Given the description of an element on the screen output the (x, y) to click on. 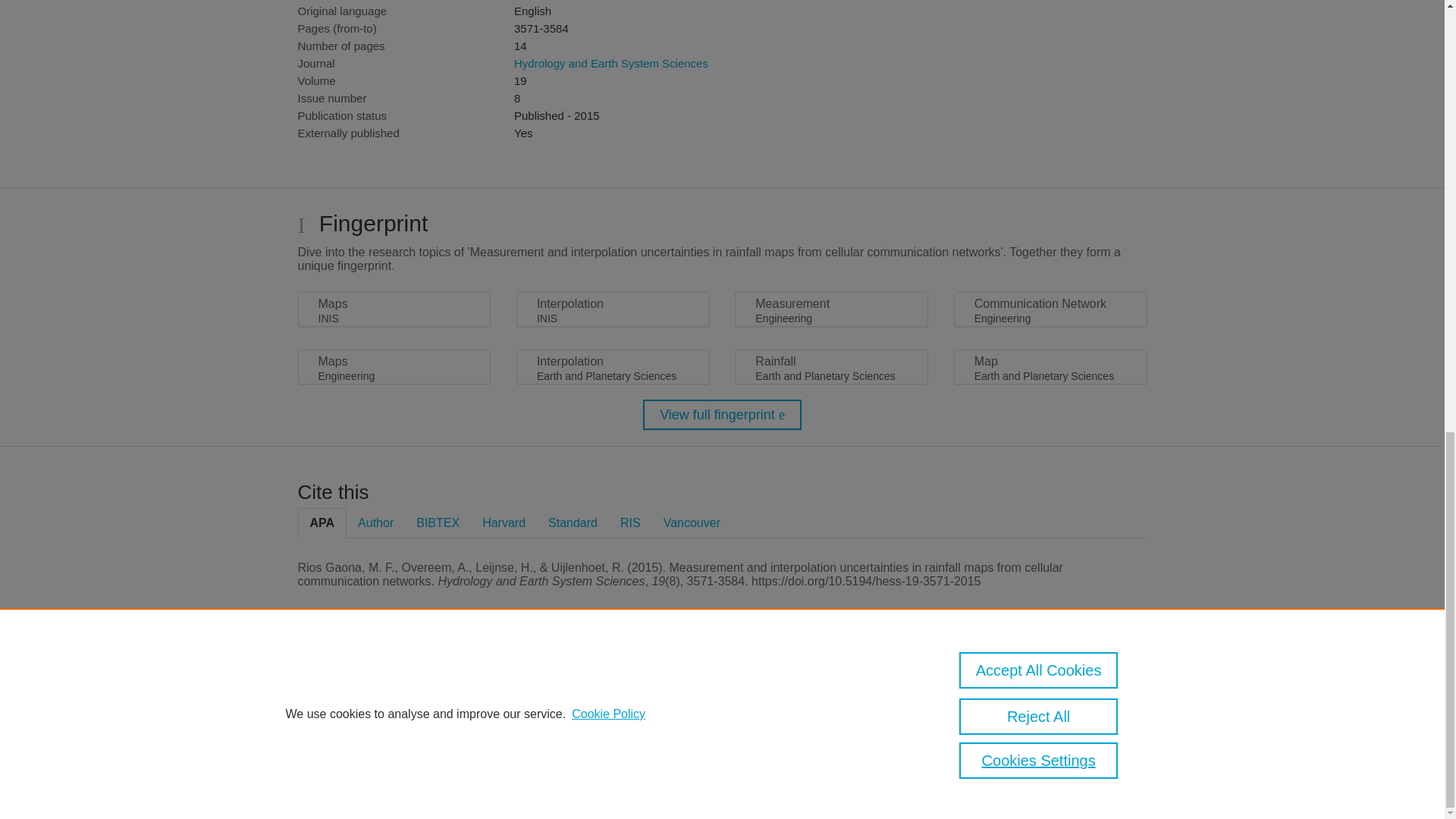
View full fingerprint (722, 414)
use of cookies (796, 739)
Pure (362, 686)
Hydrology and Earth System Sciences (610, 62)
Scopus (394, 686)
Elsevier B.V. (506, 707)
